Given the description of an element on the screen output the (x, y) to click on. 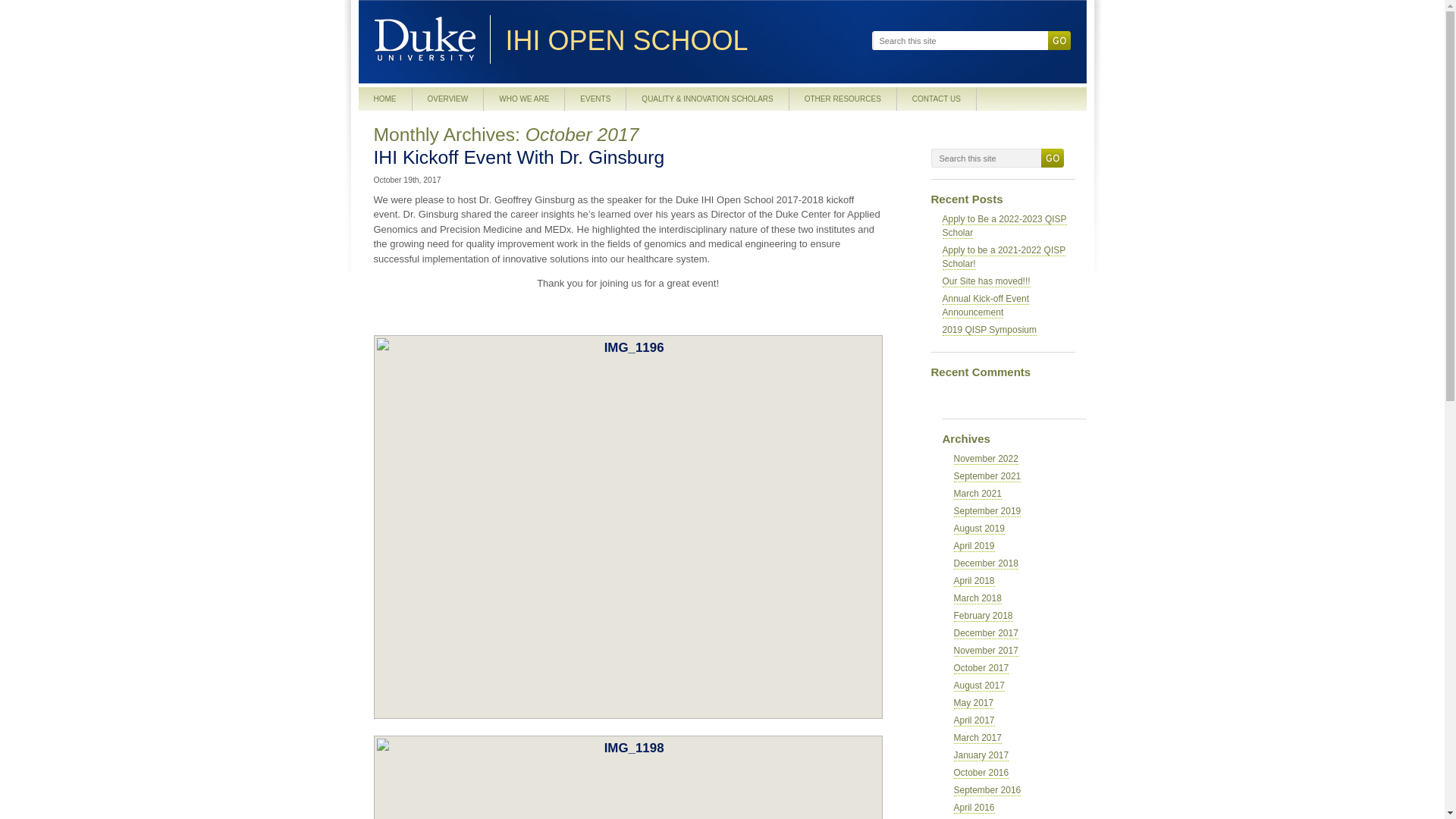
Our Site has moved!!! (985, 281)
Go (1059, 40)
Apply to be a 2021-2022 QISP Scholar! (1003, 256)
EVENTS (595, 98)
Go (1051, 157)
IHI Kickoff Event With Dr. Ginsburg (517, 157)
CONTACT US (936, 98)
Apply to Be a 2022-2023 QISP Scholar (1003, 226)
Permalink to IHI Kickoff Event With Dr. Ginsburg (517, 157)
HOME (385, 98)
Annual Kick-off Event Announcement (985, 304)
WHO WE ARE (523, 98)
OTHER RESOURCES (842, 98)
2019 QISP Symposium (989, 329)
IHI OPEN SCHOOL (683, 40)
